Given the description of an element on the screen output the (x, y) to click on. 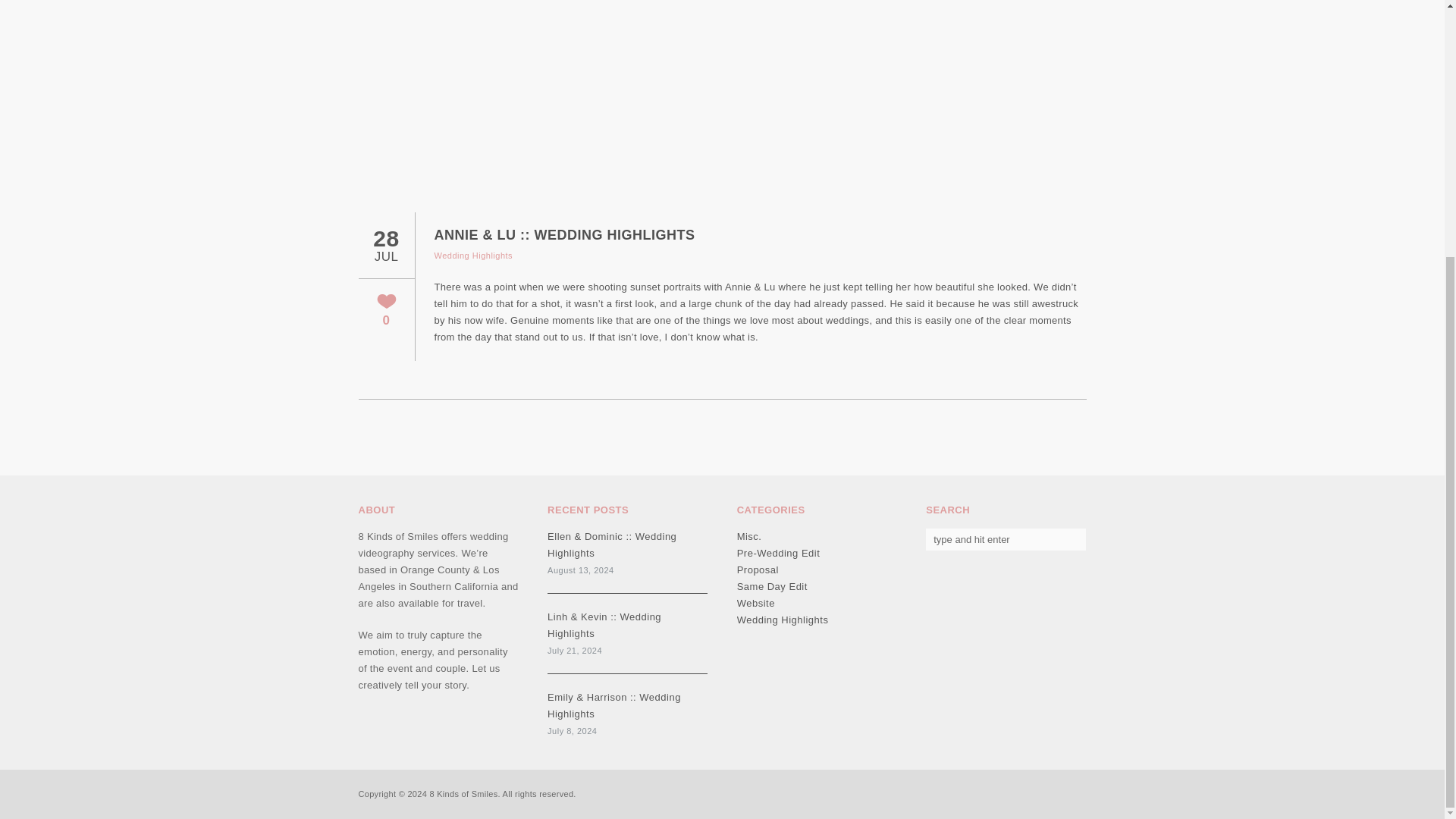
type and hit enter (1006, 539)
Pre-Wedding Edit (778, 552)
0 (385, 310)
Same Day Edit (772, 585)
Proposal (757, 568)
Wedding Highlights (472, 255)
Wedding Highlights (782, 618)
Website (755, 602)
Misc. (748, 535)
